Given the description of an element on the screen output the (x, y) to click on. 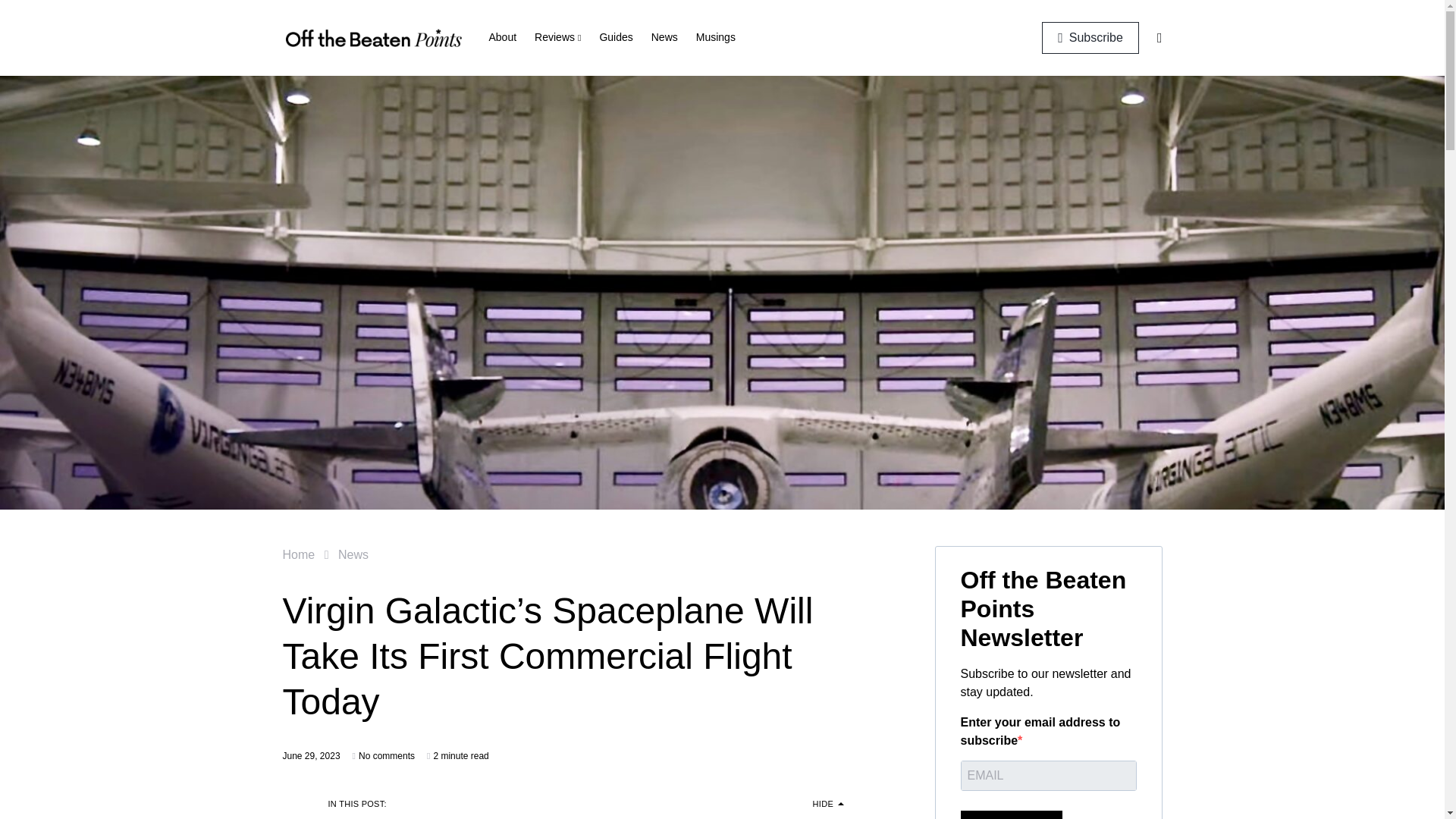
No comments (386, 755)
Home (298, 553)
Subscribe (1090, 37)
News (352, 553)
